Given the description of an element on the screen output the (x, y) to click on. 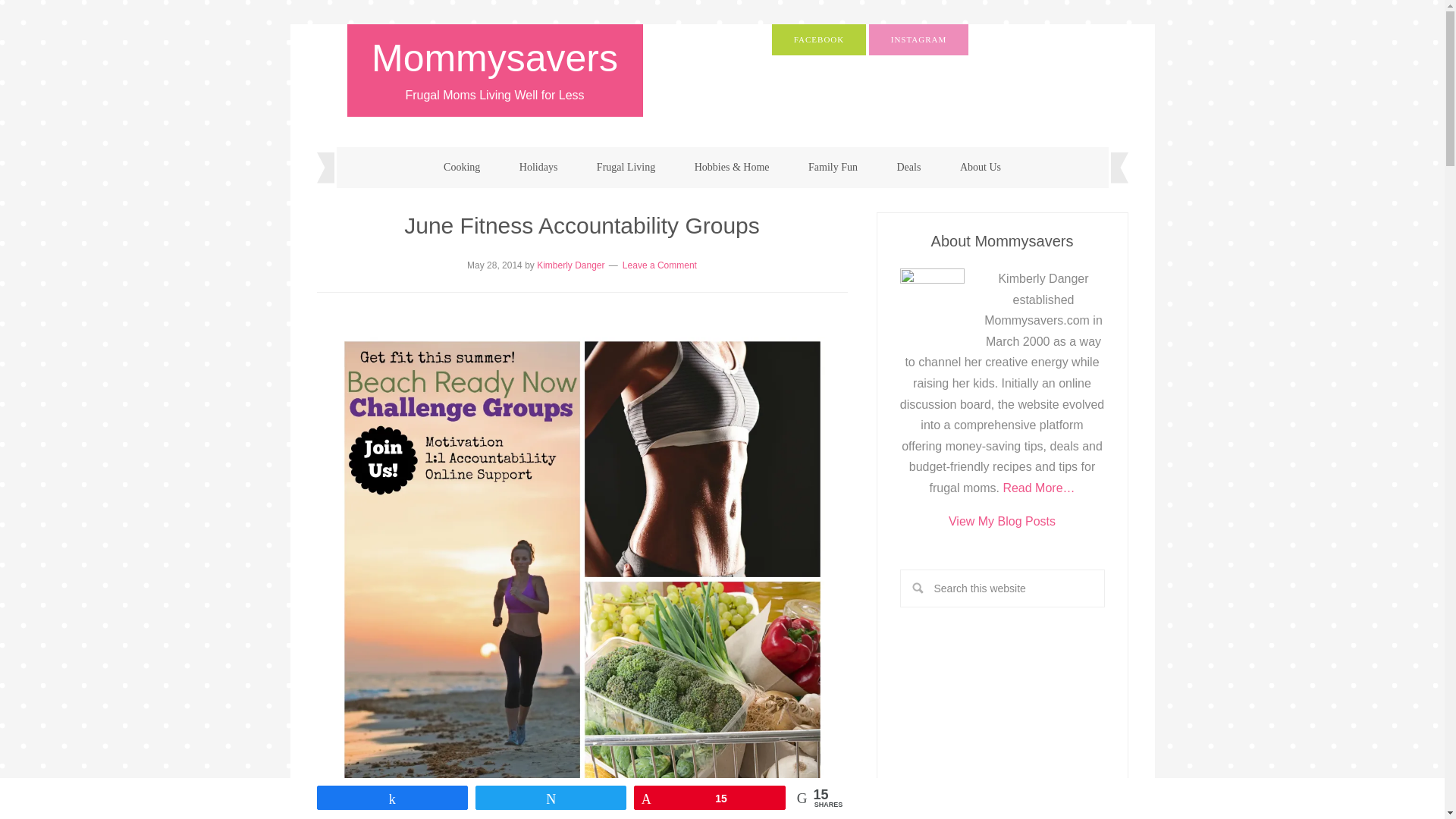
Family Fun (833, 167)
Kimberly Danger (570, 265)
Deals (908, 167)
INSTAGRAM (919, 39)
FACEBOOK (818, 39)
Mommysavers (494, 57)
Frugal Living (625, 167)
Leave a Comment (660, 265)
About Us (980, 167)
Advertisement (1001, 732)
Holidays (538, 167)
Cooking (461, 167)
